Given the description of an element on the screen output the (x, y) to click on. 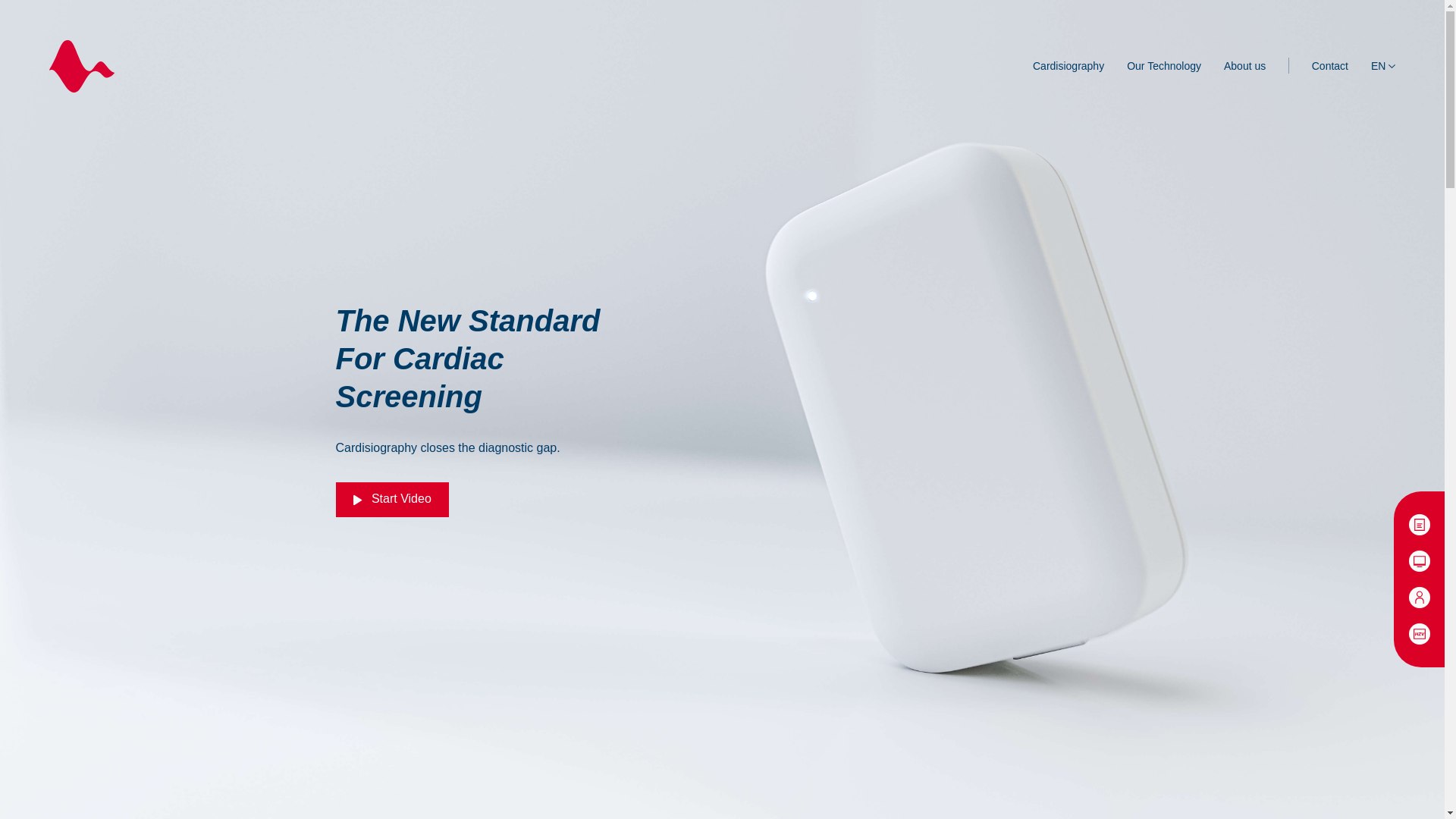
Start Video (391, 499)
Cardisio GmbH (82, 65)
Our Technology (1163, 65)
Cardisiography (1067, 65)
Contact (1329, 65)
Open Cookie Preferences (25, 799)
About us (1244, 65)
